Given the description of an element on the screen output the (x, y) to click on. 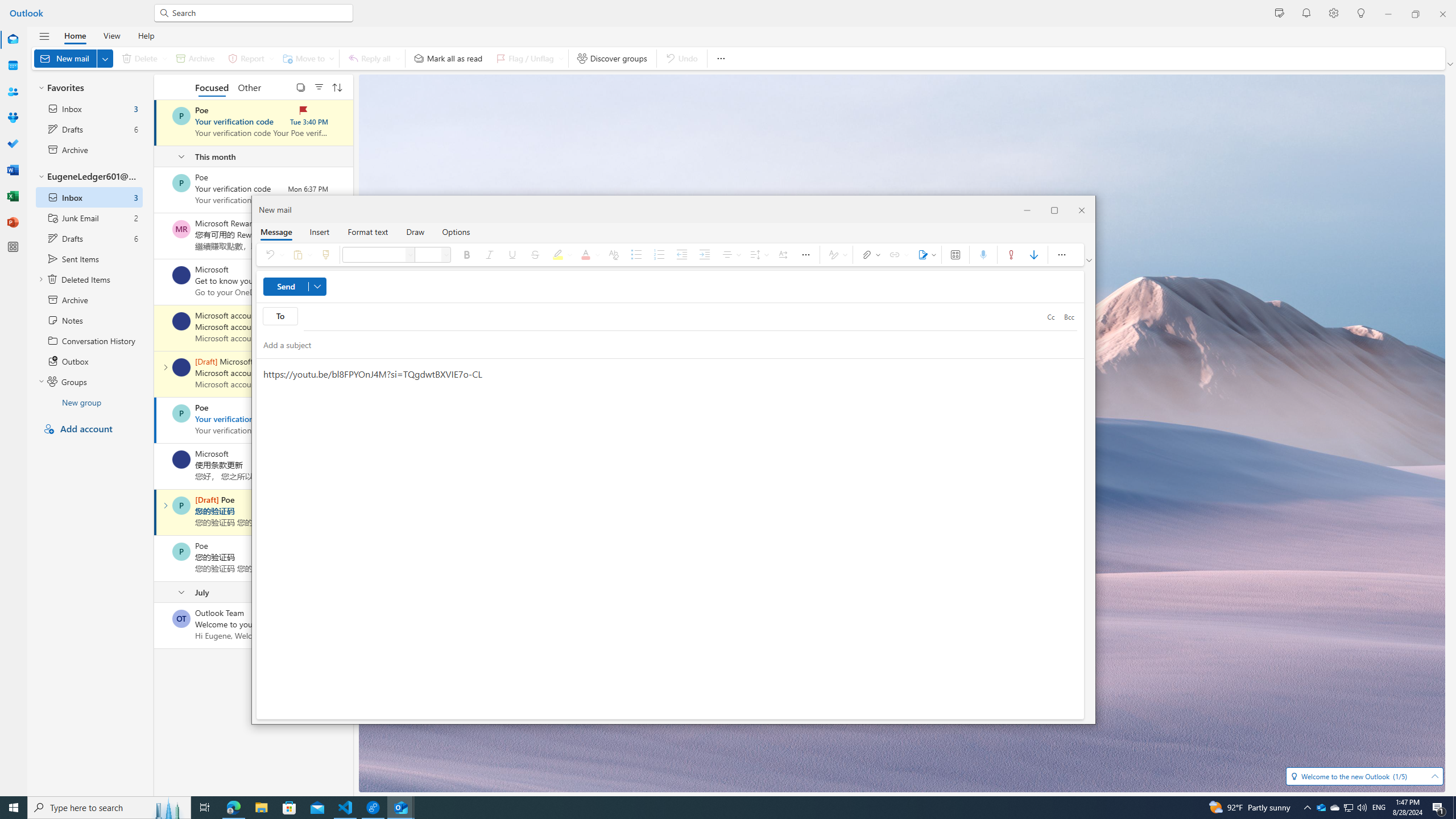
Strikethrough (535, 254)
Report (248, 58)
Visual Studio Code - 1 running window (345, 807)
Text highlight color (560, 254)
System Promoted Notification Area (1320, 807)
New mail (73, 58)
Delete (141, 58)
Word (12, 169)
Type here to search (108, 807)
Font size (446, 254)
Microsoft Rewards (180, 229)
Increase indent (704, 254)
Ribbon display options (1089, 260)
System (6, 6)
